Given the description of an element on the screen output the (x, y) to click on. 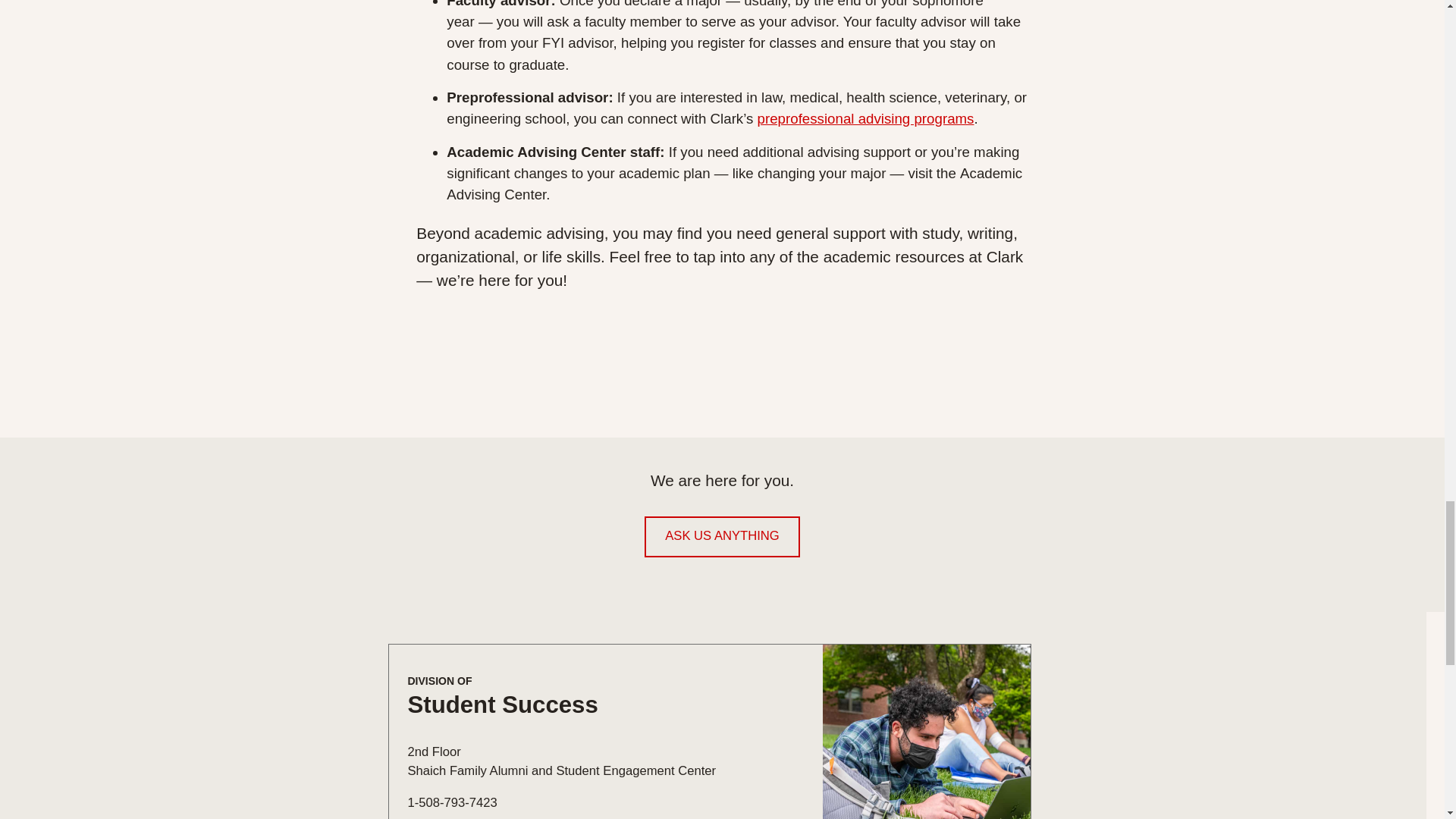
preprofessional advising programs (865, 118)
ASK US ANYTHING (722, 536)
